Given the description of an element on the screen output the (x, y) to click on. 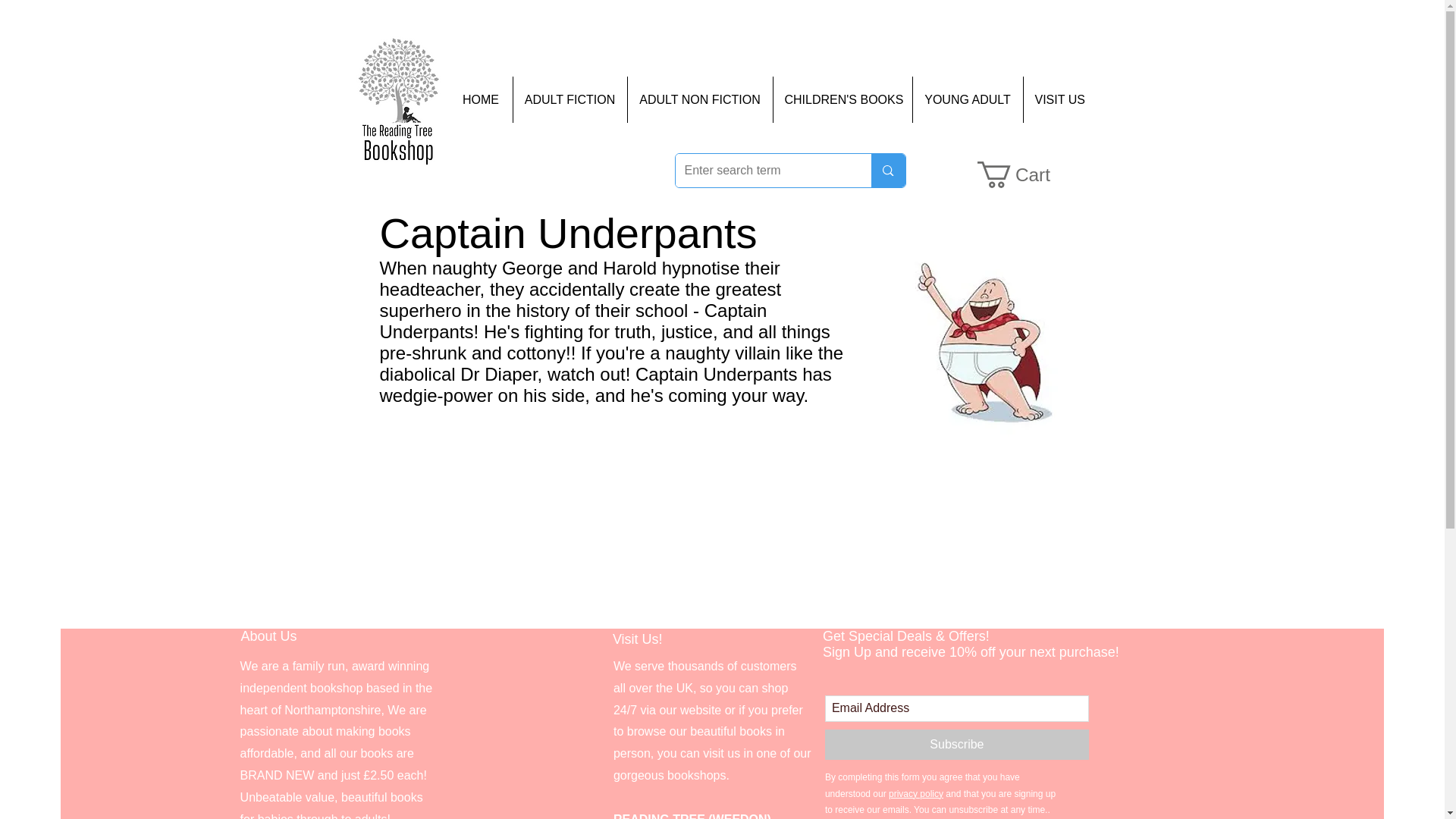
VISIT US (1057, 99)
ADULT FICTION (569, 99)
Cart (1026, 174)
Cart (1026, 174)
YOUNG ADULT (966, 99)
Subscribe (957, 744)
CHILDREN'S BOOKS (841, 99)
HOME (480, 99)
About Us (269, 635)
privacy policy (915, 793)
